Given the description of an element on the screen output the (x, y) to click on. 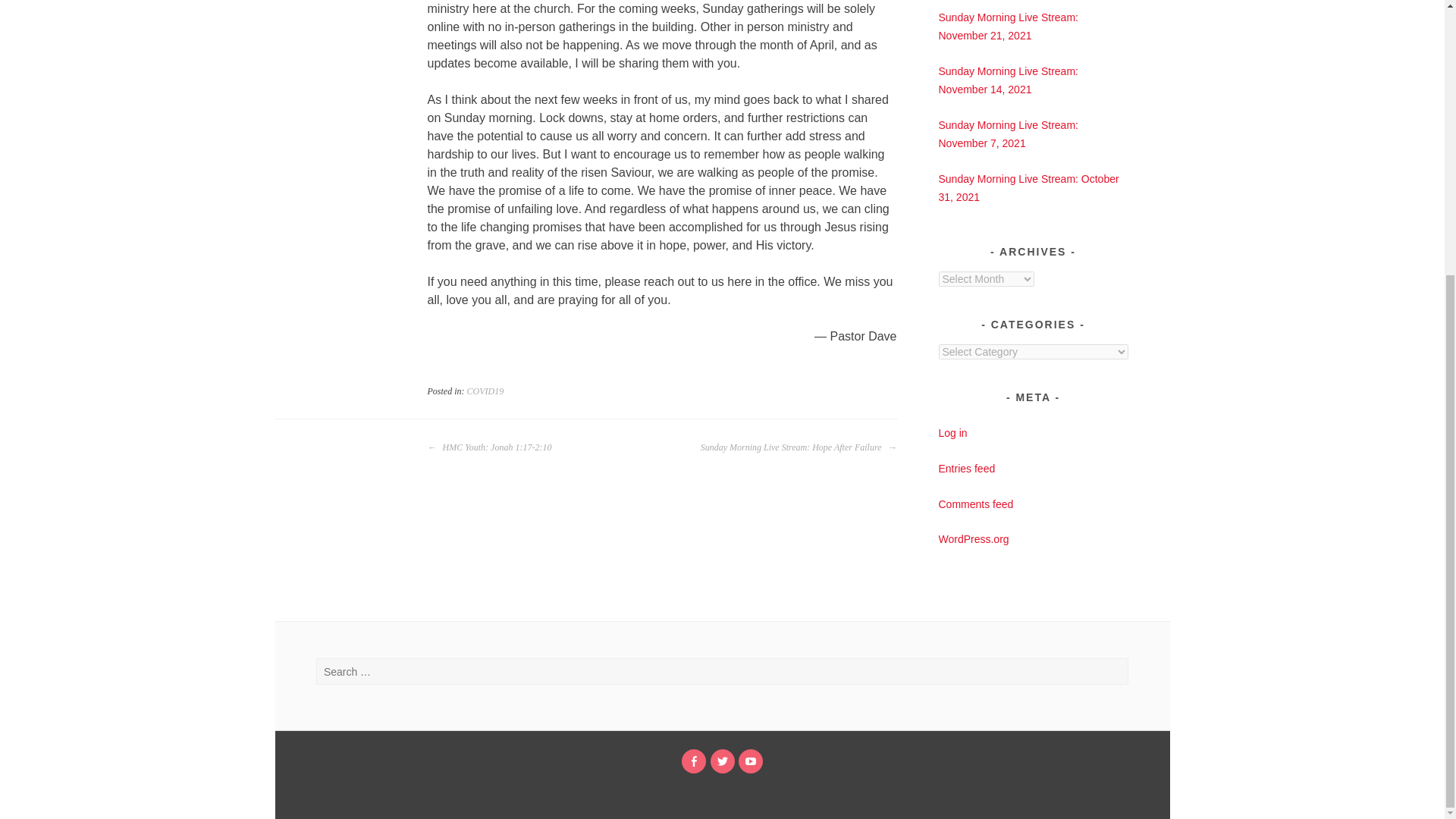
Sunday Morning Live Stream: November 14, 2021 (1008, 80)
TWITTER (721, 761)
FACEBOOK (693, 761)
Sunday Morning Live Stream: October 31, 2021 (1029, 187)
COVID19 (485, 390)
Sunday Morning Live Stream: Hope After Failure  (798, 447)
Entries feed (967, 468)
Sunday Morning Live Stream: November 7, 2021 (1008, 133)
WordPress.org (974, 539)
 HMC Youth: Jonah 1:17-2:10 (489, 447)
Comments feed (976, 503)
Sunday Morning Live Stream: November 21, 2021 (1008, 26)
Log in (953, 432)
